Given the description of an element on the screen output the (x, y) to click on. 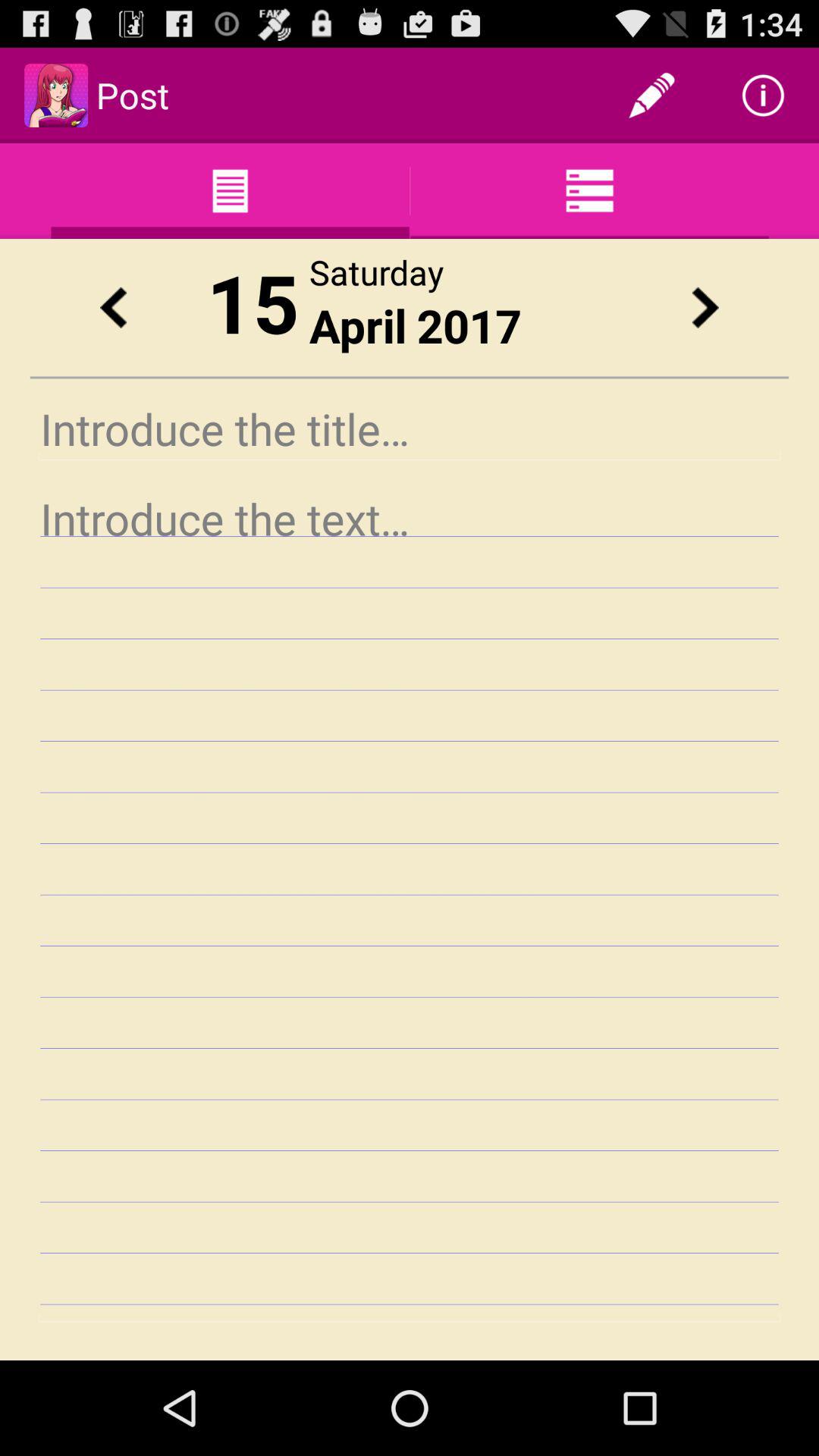
go to previous day (113, 307)
